Given the description of an element on the screen output the (x, y) to click on. 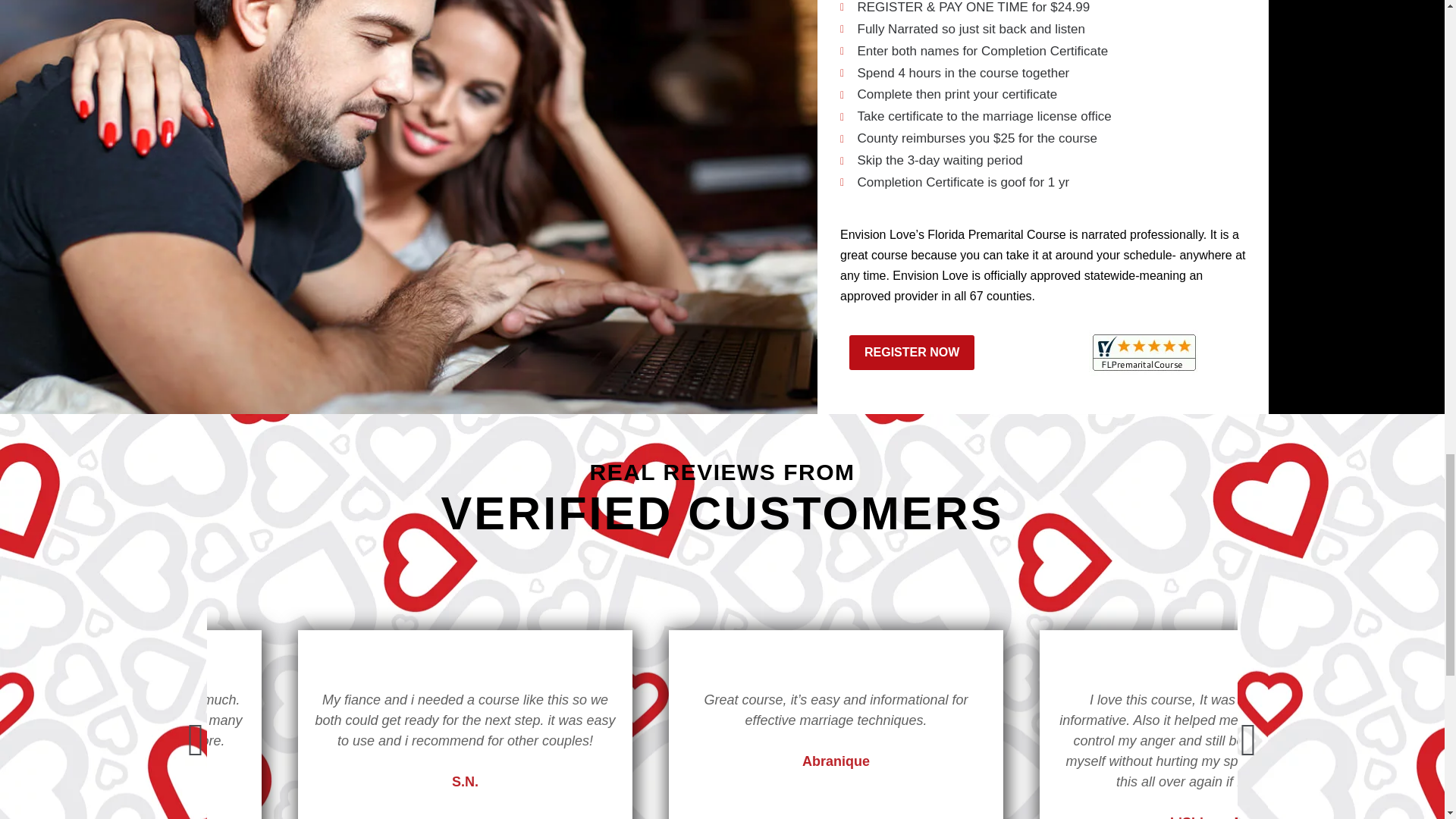
REGISTER NOW (911, 352)
